Given the description of an element on the screen output the (x, y) to click on. 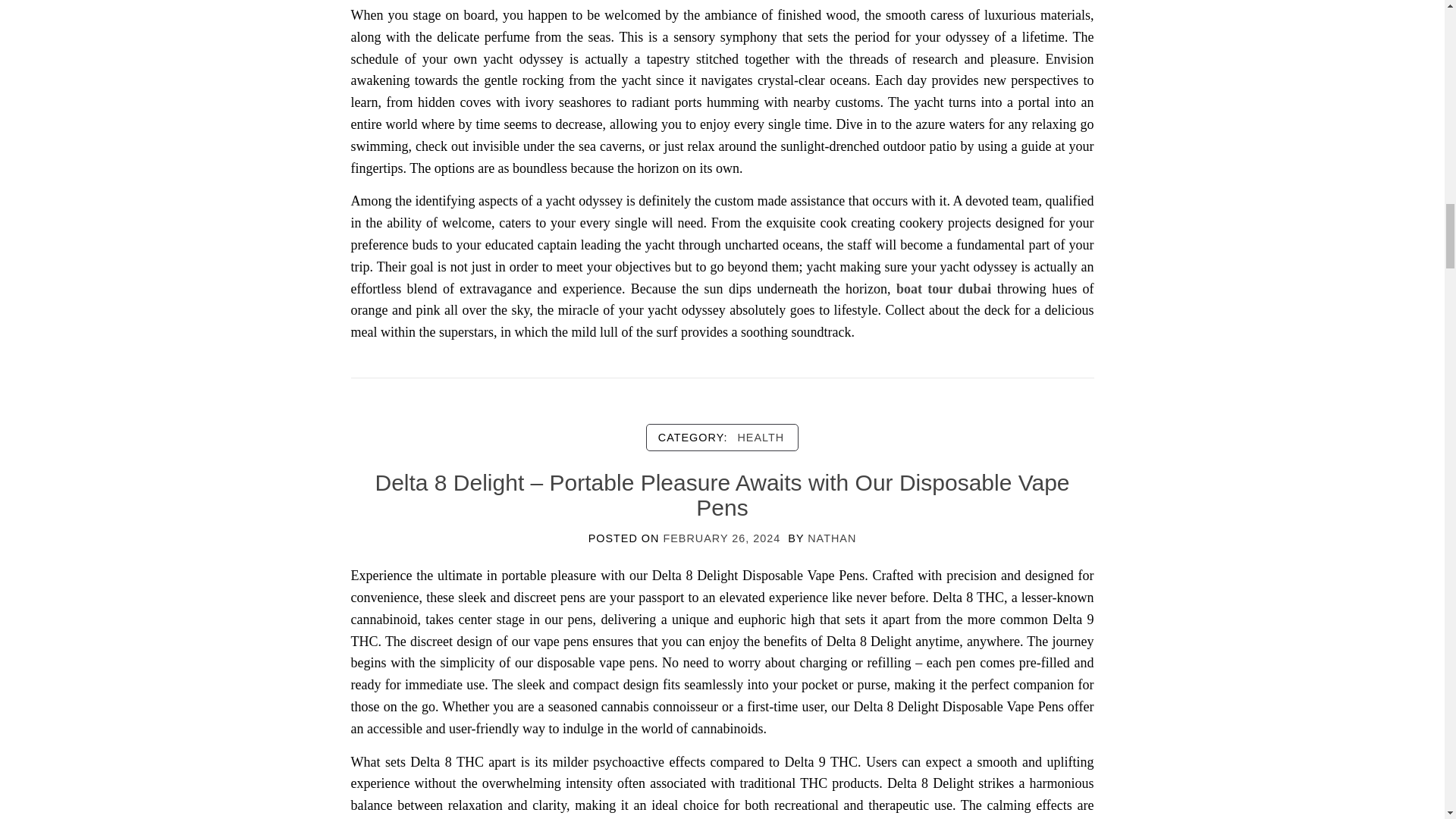
FEBRUARY 26, 2024 (721, 538)
NATHAN (832, 538)
HEALTH (760, 437)
boat tour dubai (943, 288)
